Given the description of an element on the screen output the (x, y) to click on. 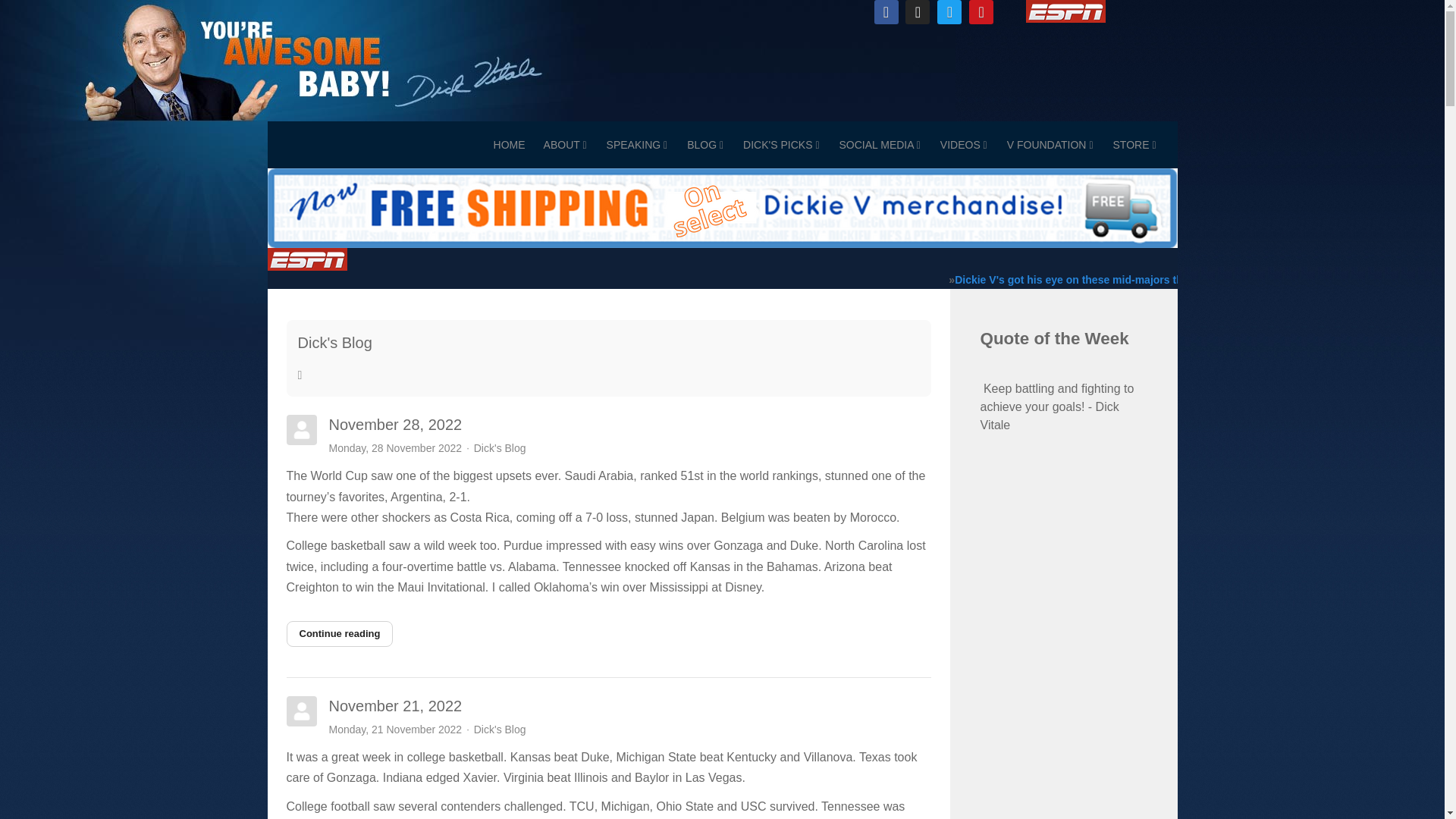
ESPN (1065, 11)
STORE (1134, 144)
SPEAKING (636, 144)
BLOG (705, 144)
VIDEOS (963, 144)
ESPN (306, 259)
Dickie V's got his eye on these mid-majors this season (1092, 279)
Dickie V's got his eye on these mid-majors this season (1092, 279)
ABOUT (564, 144)
V FOUNDATION (1049, 144)
